Given the description of an element on the screen output the (x, y) to click on. 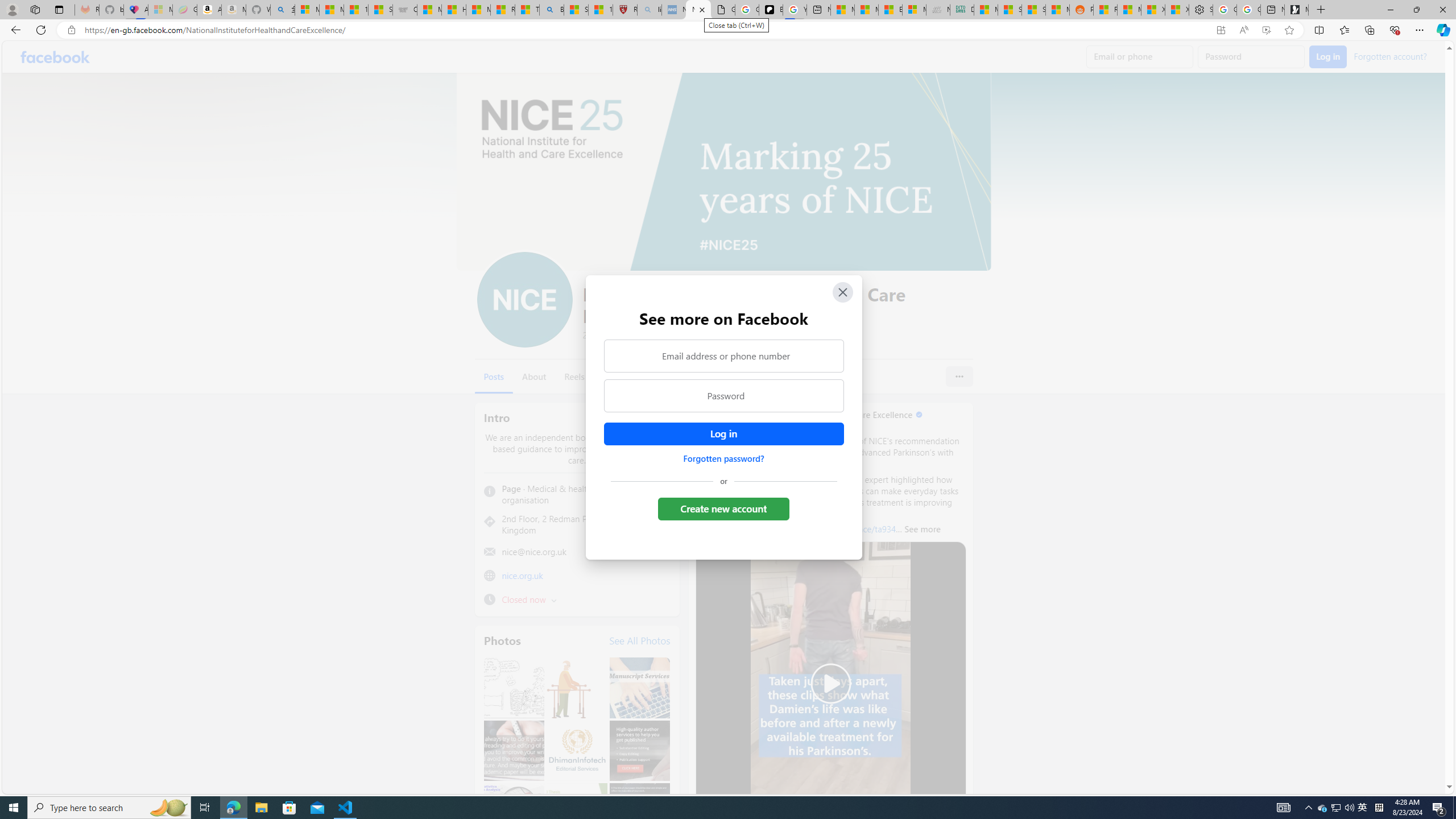
Email or phone (1139, 56)
DITOGAMES AG Imprint (961, 9)
Password (723, 395)
12 Popular Science Lies that Must be Corrected (600, 9)
Facebook (55, 56)
R******* | Trusted Community Engagement and Contributions (1105, 9)
